Given the description of an element on the screen output the (x, y) to click on. 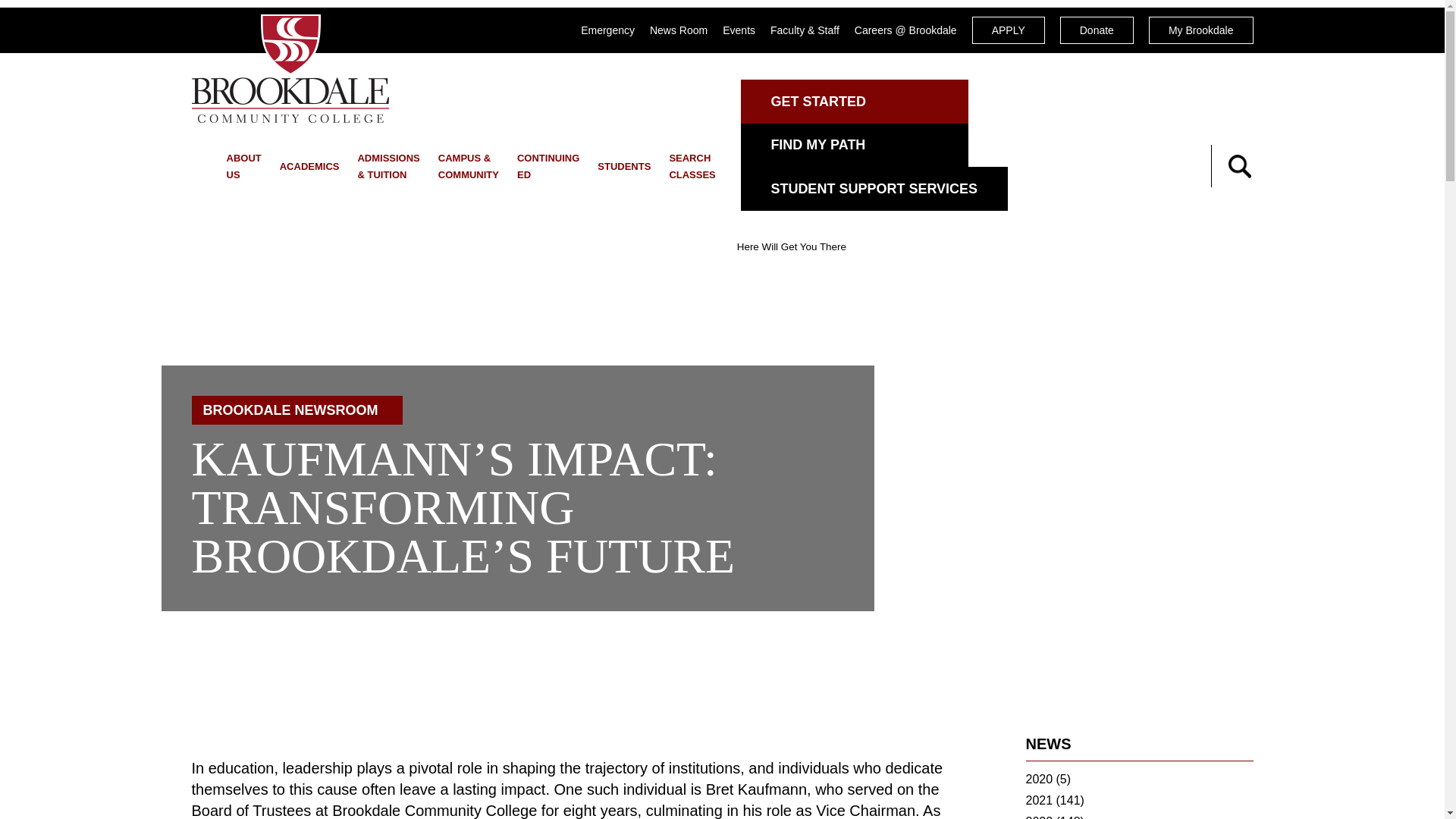
My Brookdale (1200, 30)
Emergency (607, 30)
News Room (678, 30)
Donate (1096, 30)
Brookdale Community College (289, 68)
Events (738, 30)
ABOUT US (242, 166)
APPLY (1008, 30)
